Given the description of an element on the screen output the (x, y) to click on. 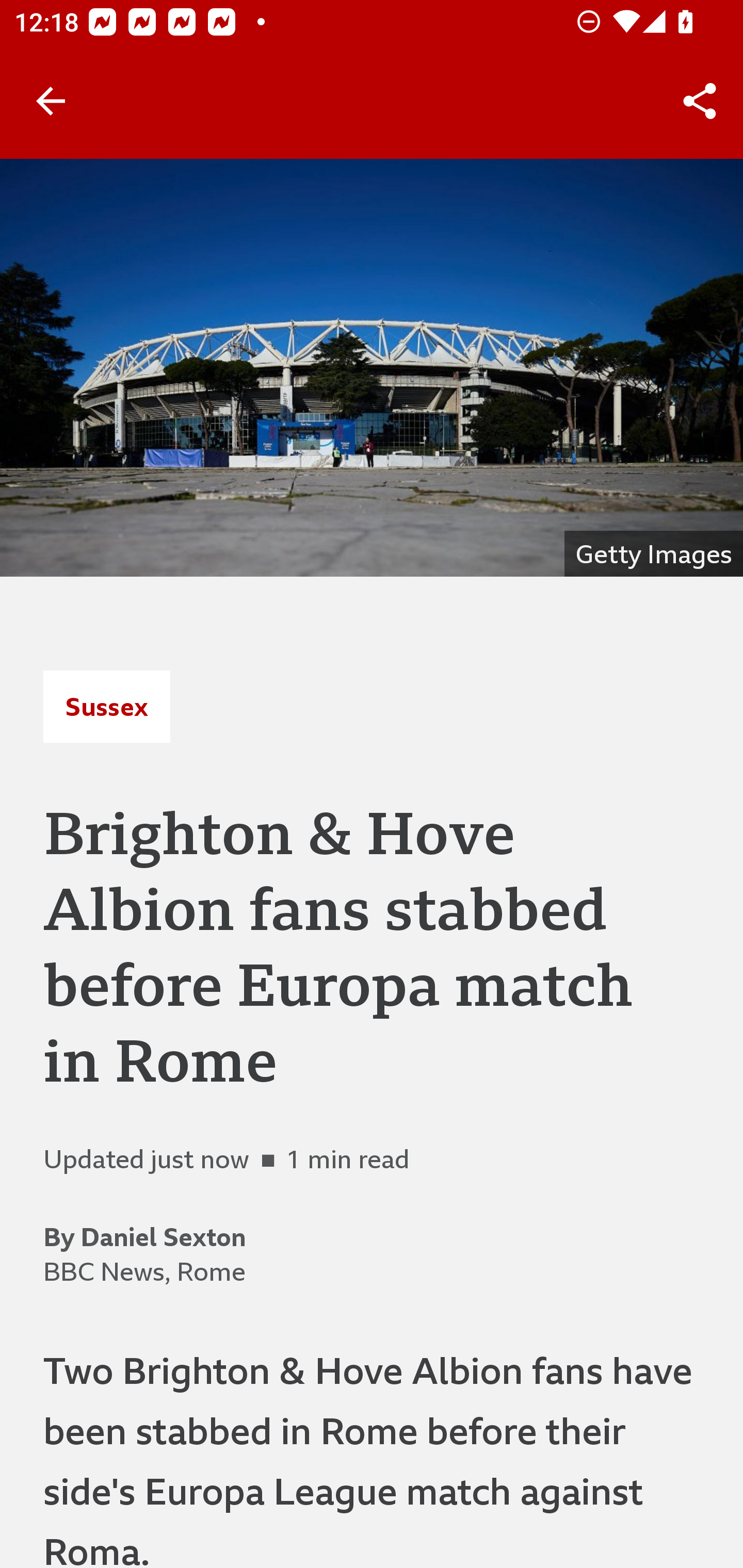
Back (50, 101)
Share (699, 101)
The Stadio Olimpico in Rome, Italy (371, 367)
Sussex (106, 706)
